Given the description of an element on the screen output the (x, y) to click on. 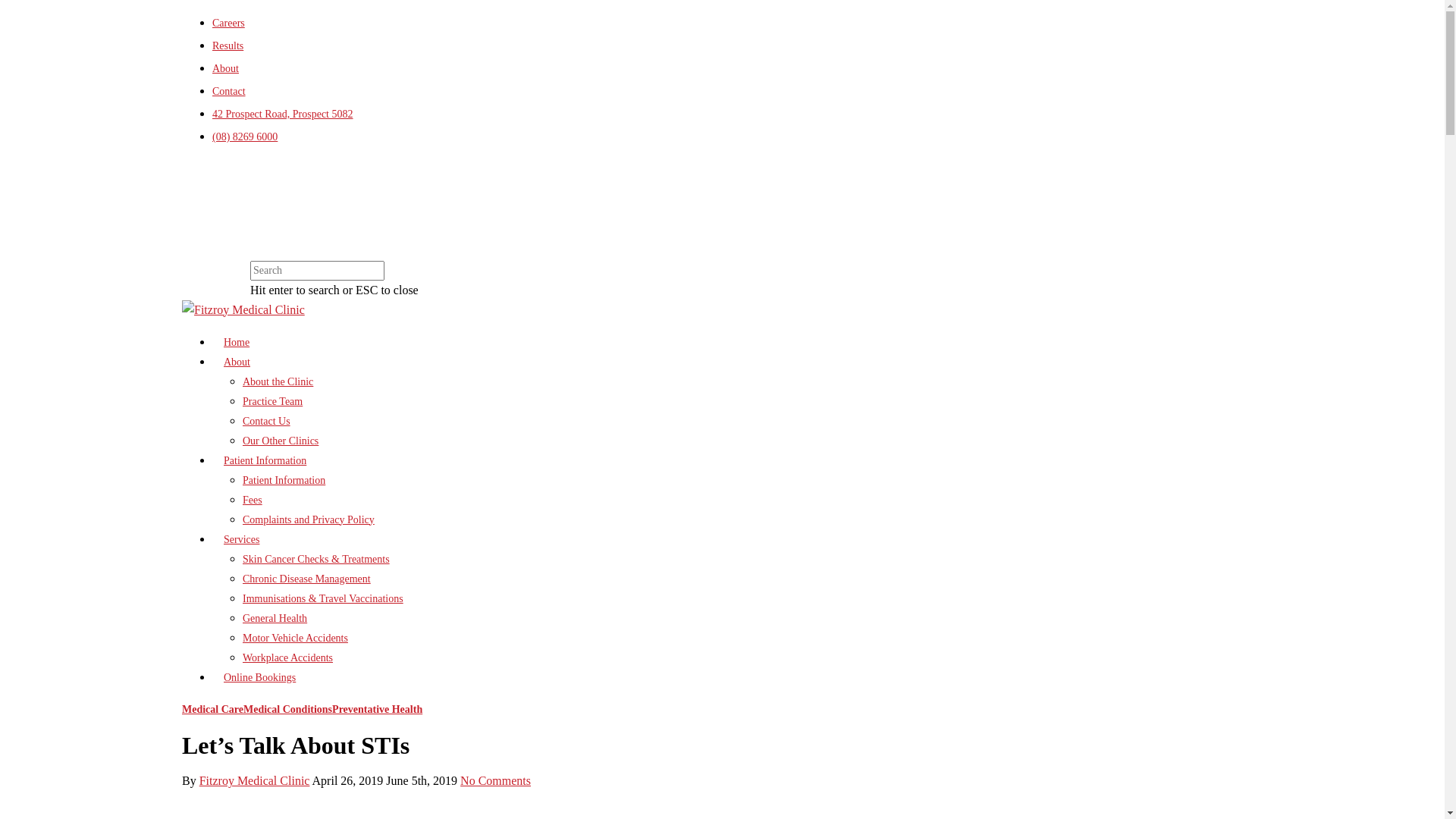
42 Prospect Road, Prospect 5082 Element type: text (282, 113)
Chronic Disease Management Element type: text (306, 578)
About Element type: text (225, 68)
Workplace Accidents Element type: text (287, 657)
General Health Element type: text (274, 618)
About Element type: text (236, 361)
Fees Element type: text (252, 499)
Preventative Health Element type: text (377, 709)
Practice Team Element type: text (272, 401)
(08) 8269 6000 Element type: text (244, 136)
Careers Element type: text (228, 22)
Results Element type: text (227, 45)
Contact Us Element type: text (266, 420)
Medical Care Element type: text (212, 709)
Skin Cancer Checks & Treatments Element type: text (315, 558)
Patient Information Element type: text (283, 480)
Motor Vehicle Accidents Element type: text (295, 637)
About the Clinic Element type: text (277, 381)
Medical Conditions Element type: text (287, 709)
Complaints and Privacy Policy Element type: text (308, 519)
Services Element type: text (241, 539)
Contact Element type: text (228, 91)
Immunisations & Travel Vaccinations Element type: text (322, 598)
No Comments Element type: text (495, 780)
Fitzroy Medical Clinic Element type: text (254, 780)
Our Other Clinics Element type: text (280, 440)
Patient Information Element type: text (264, 460)
Home Element type: text (236, 342)
Online Bookings Element type: text (259, 677)
